Given the description of an element on the screen output the (x, y) to click on. 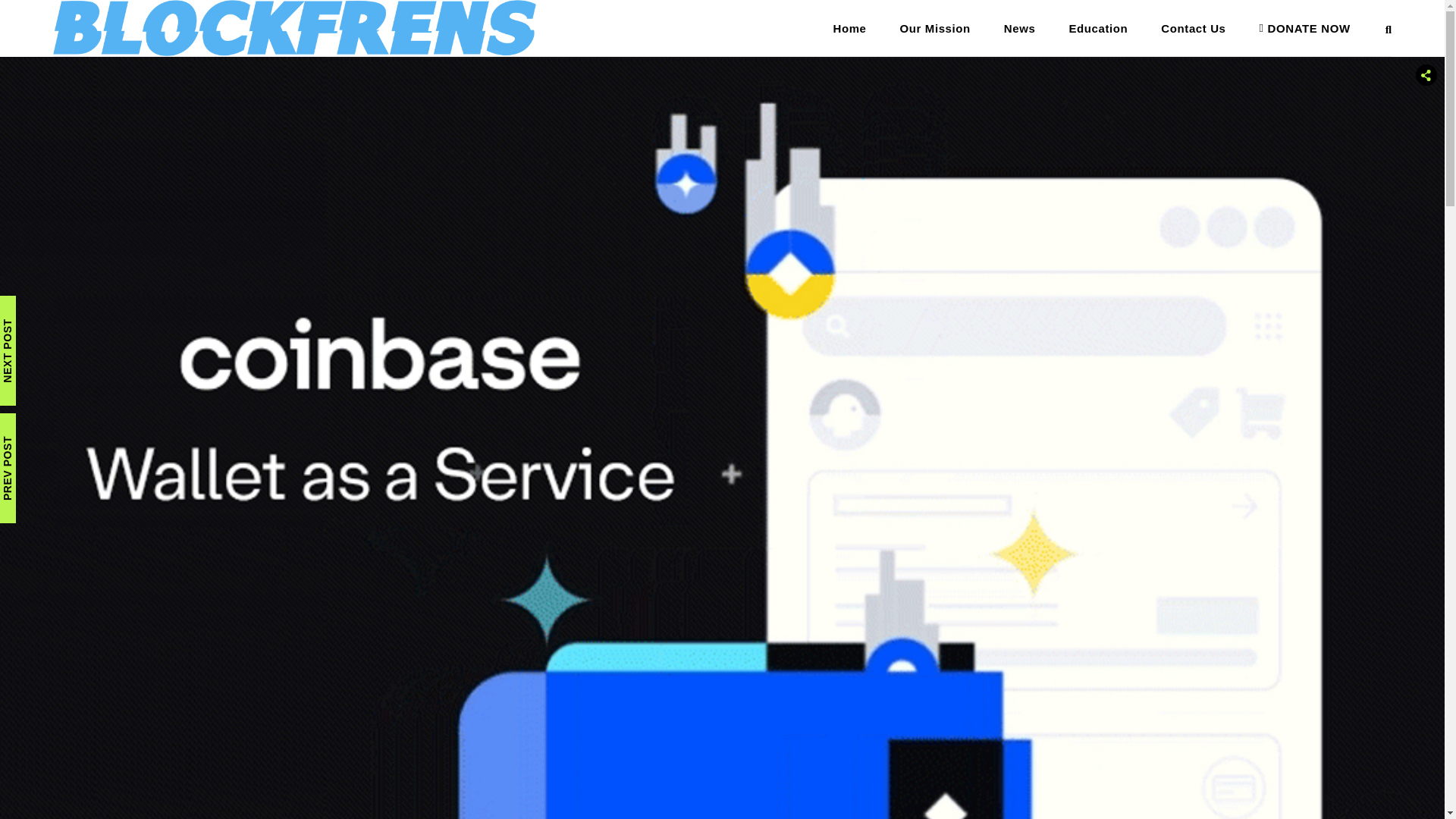
Education (1097, 28)
Contact Us (1192, 28)
Our Mission (935, 28)
DONATE NOW (1305, 28)
